Given the description of an element on the screen output the (x, y) to click on. 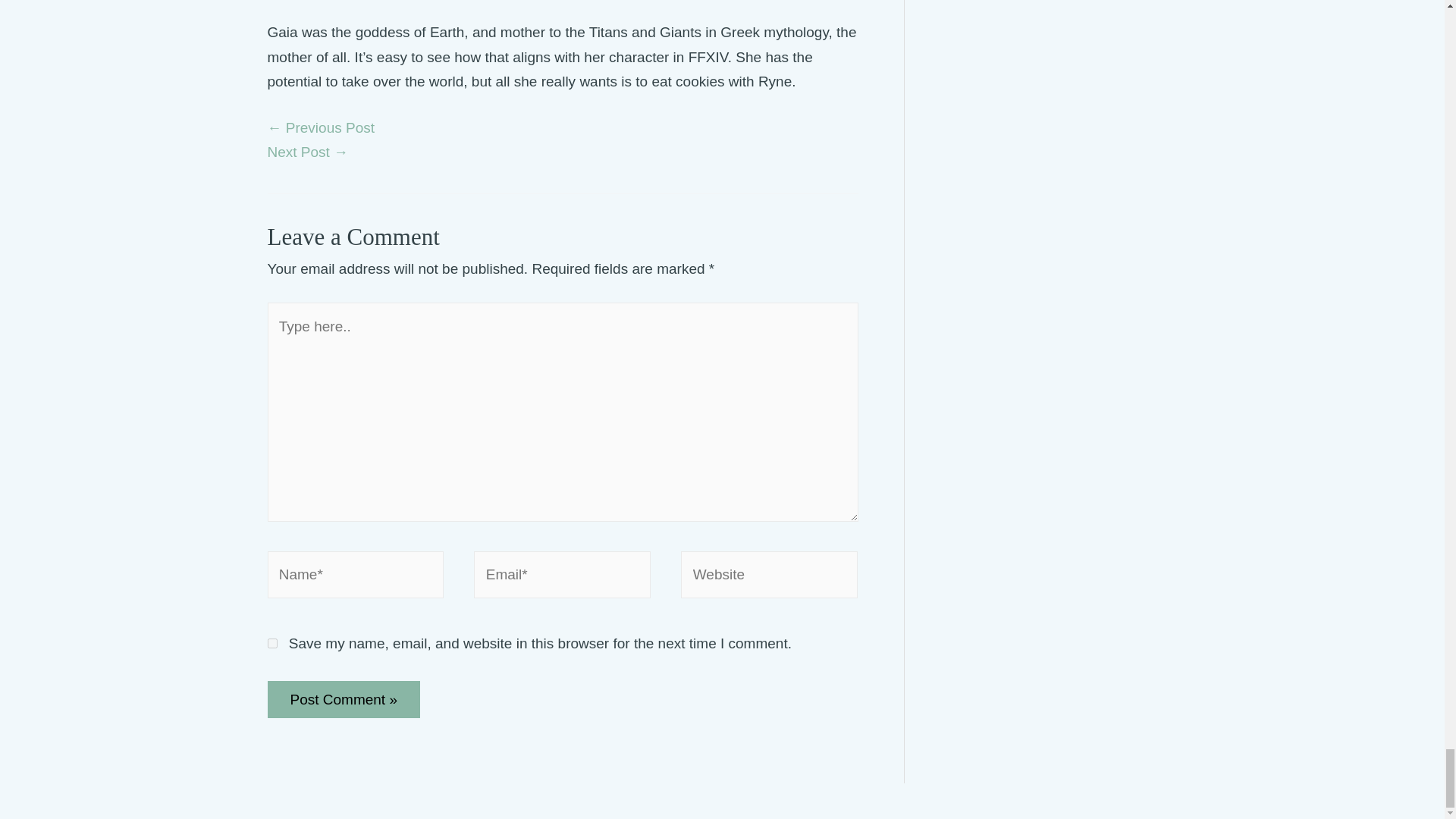
Meteion FFXIV Guide - The Harpy That Had "Real Emotions" (320, 127)
yes (271, 643)
Ardbert FFXIV Guide (306, 151)
